Given the description of an element on the screen output the (x, y) to click on. 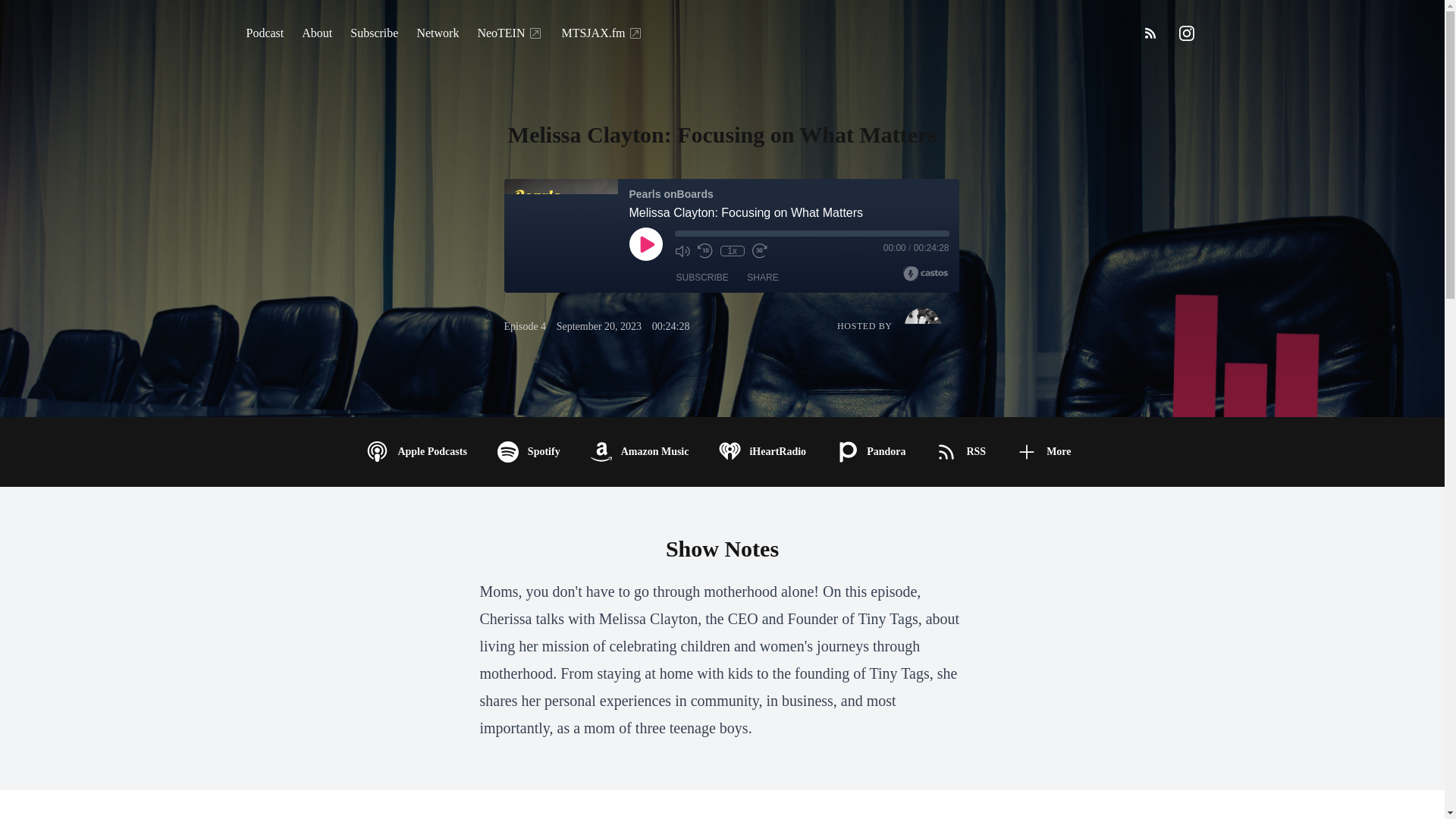
Apple Podcasts (419, 451)
Subscribe (373, 33)
NeoTEIN (509, 33)
Amazon Music (642, 451)
Pandora (873, 451)
Podcast (263, 33)
SHARE (762, 277)
SUBSCRIBE (702, 277)
1x (732, 250)
Seek (812, 233)
